Given the description of an element on the screen output the (x, y) to click on. 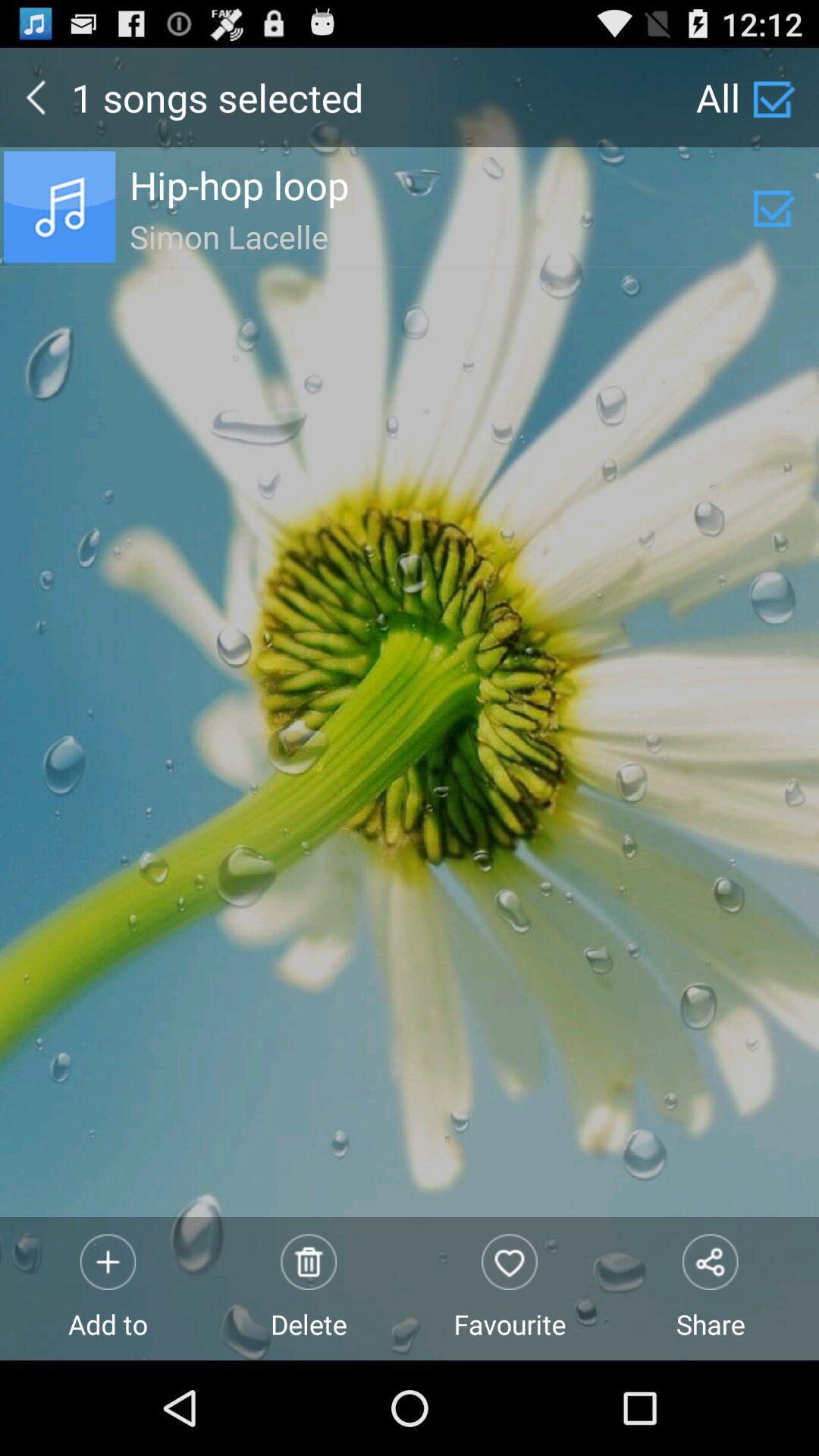
open share item (710, 1288)
